Given the description of an element on the screen output the (x, y) to click on. 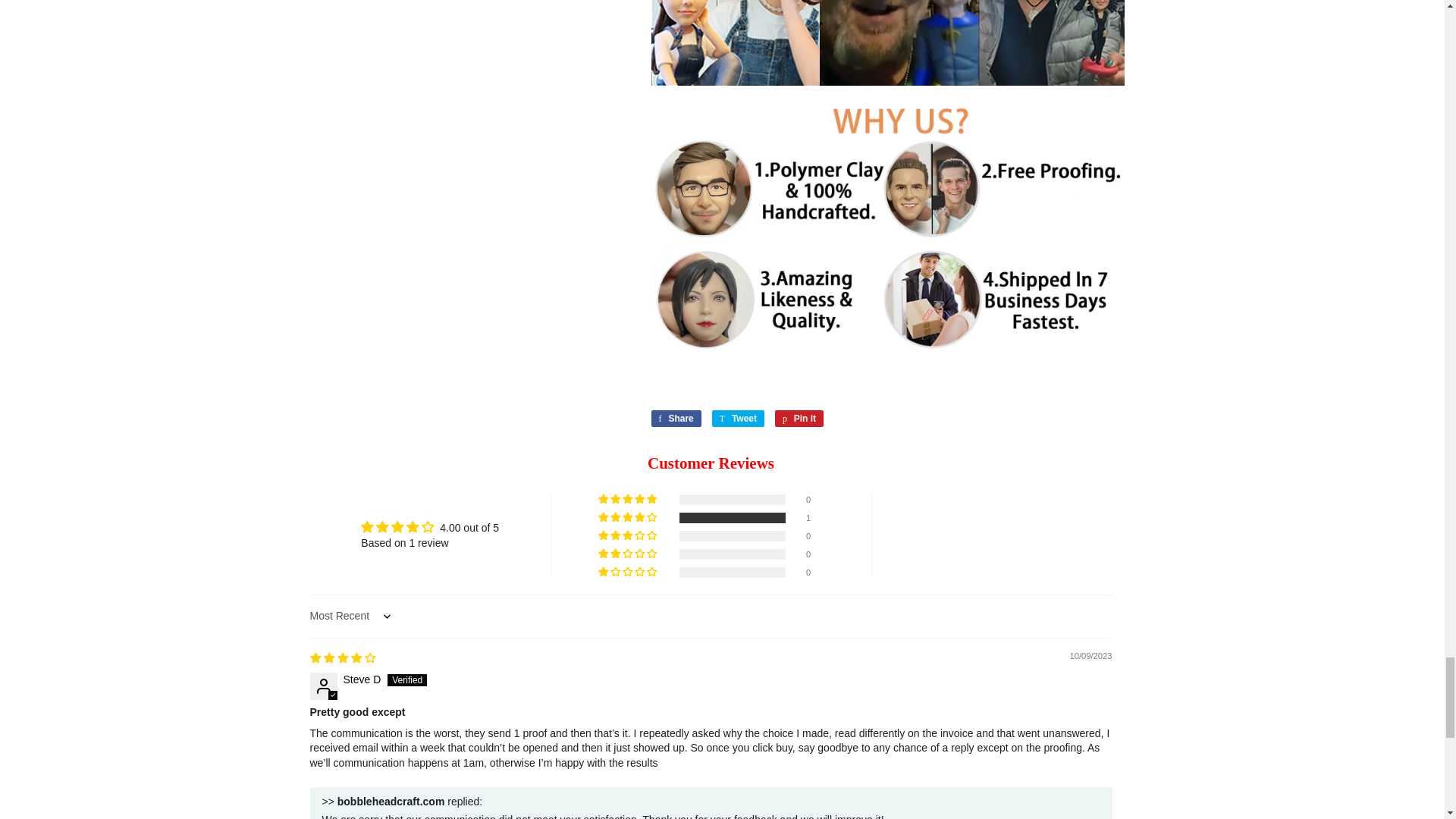
Tweet on Twitter (737, 418)
Pin on Pinterest (799, 418)
Share on Facebook (675, 418)
